Given the description of an element on the screen output the (x, y) to click on. 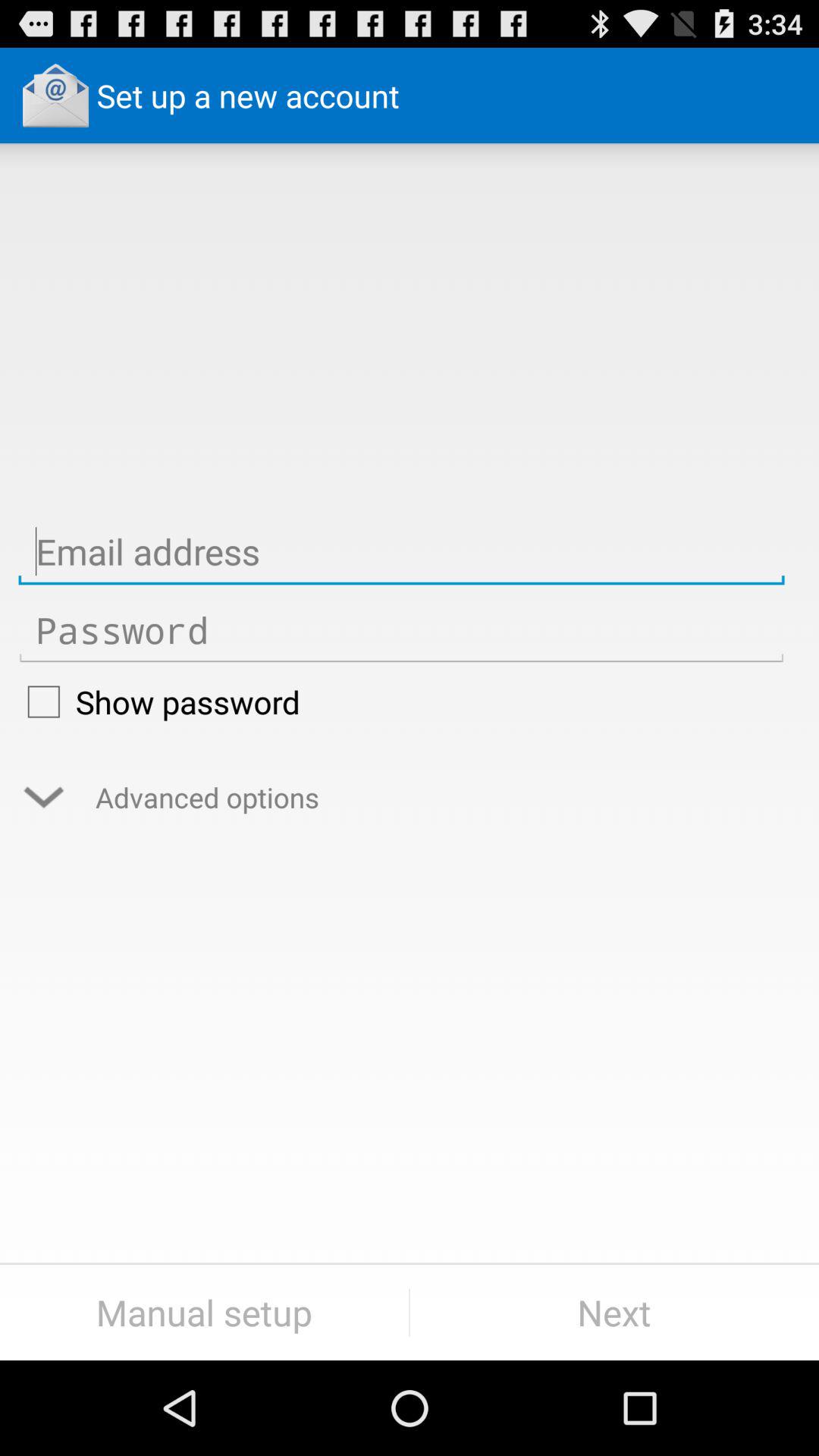
scroll until the next icon (614, 1312)
